Given the description of an element on the screen output the (x, y) to click on. 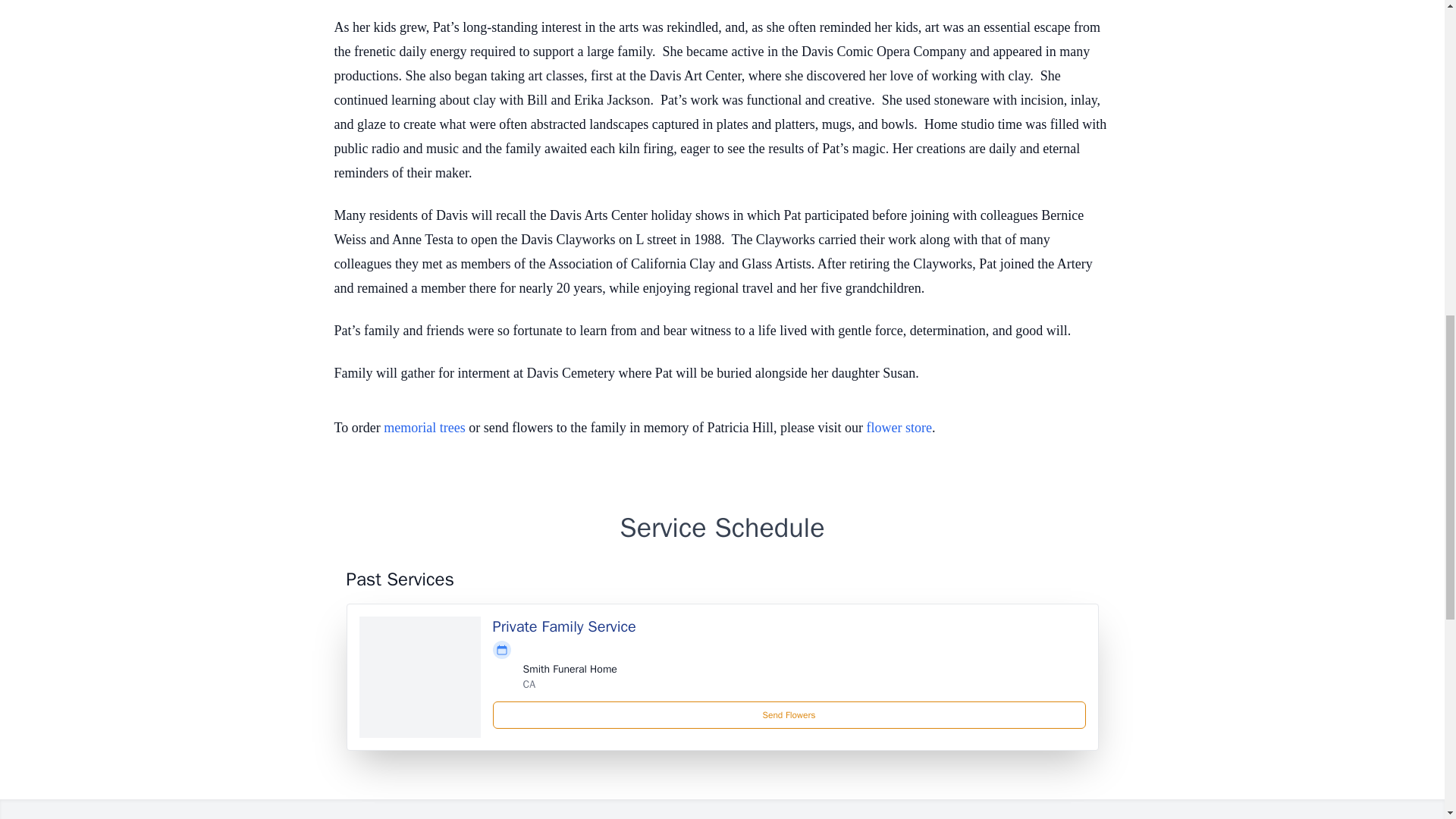
flower store (898, 427)
memorial trees (424, 427)
Send Flowers (789, 714)
CA (528, 684)
